Given the description of an element on the screen output the (x, y) to click on. 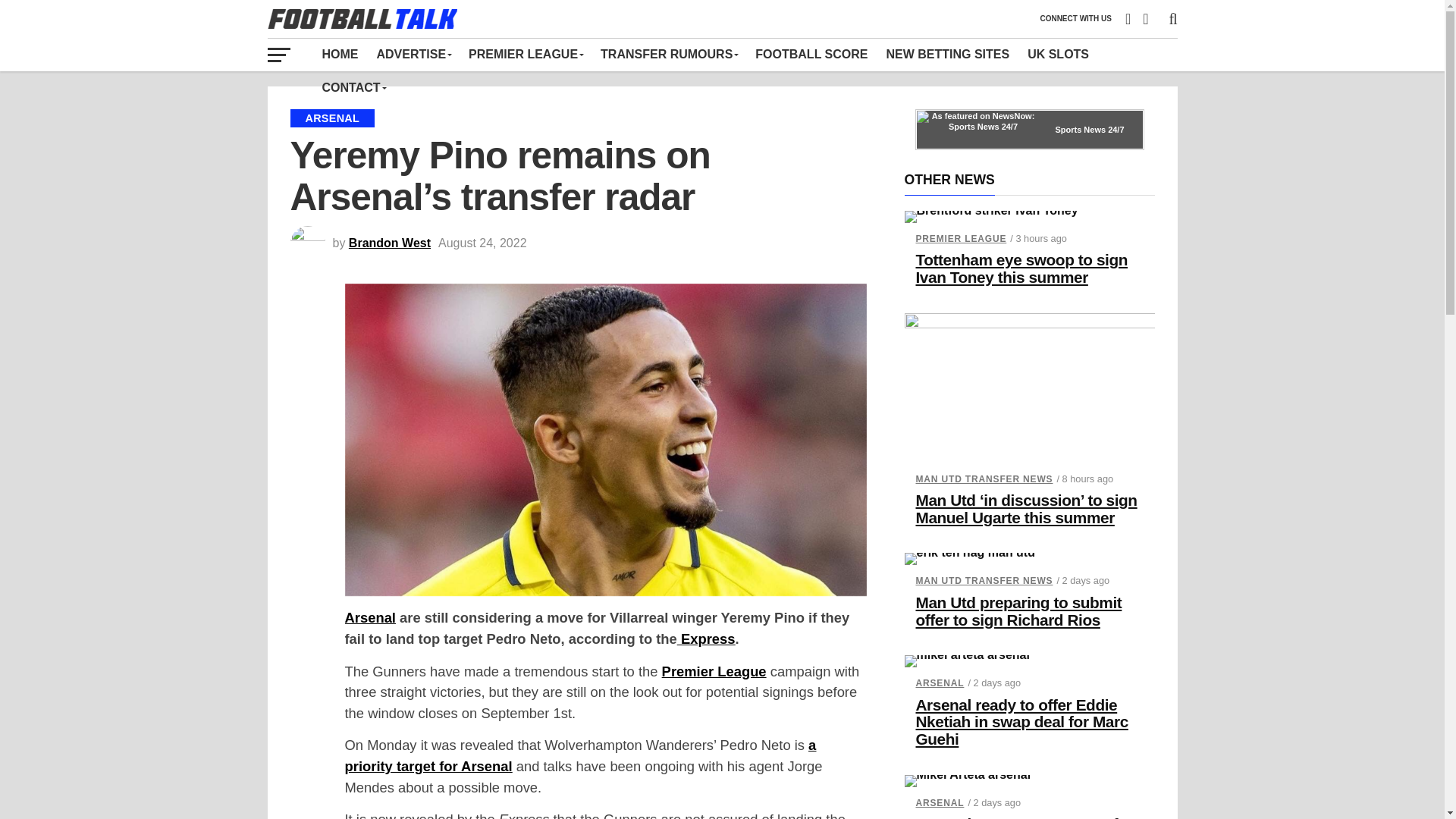
Premier League News (525, 54)
Advertise on Football-Talk (413, 54)
HOME (339, 54)
PREMIER LEAGUE (525, 54)
ADVERTISE (413, 54)
